Given the description of an element on the screen output the (x, y) to click on. 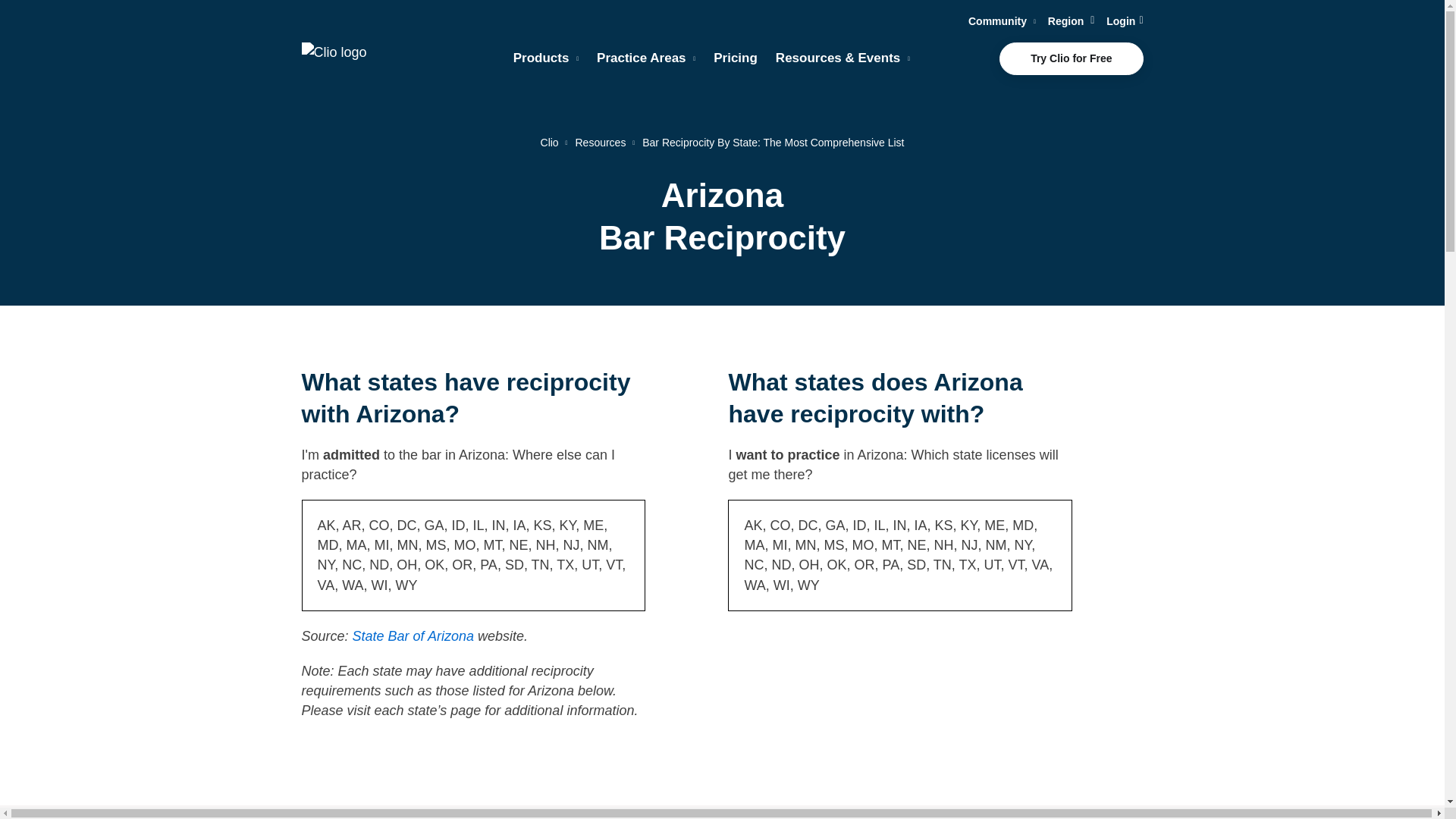
Clio logo (350, 59)
Region (1071, 21)
Products (545, 58)
Login (1124, 21)
Community (1001, 21)
